Given the description of an element on the screen output the (x, y) to click on. 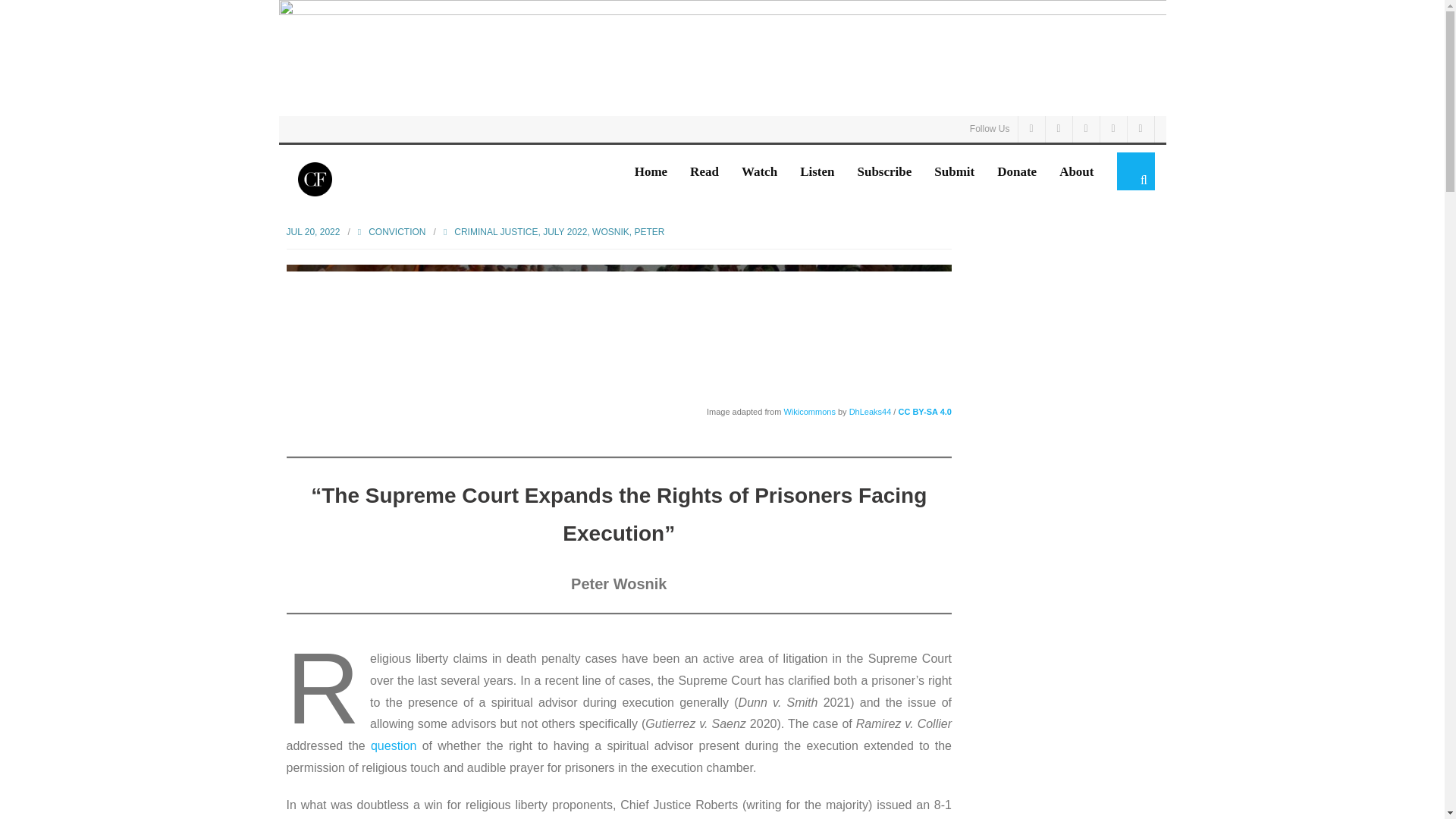
Submit (954, 171)
About (1076, 171)
Listen (817, 171)
Home (650, 171)
Watch (759, 171)
Read (704, 171)
Donate (1016, 171)
Search (44, 22)
Subscribe (884, 171)
